Given the description of an element on the screen output the (x, y) to click on. 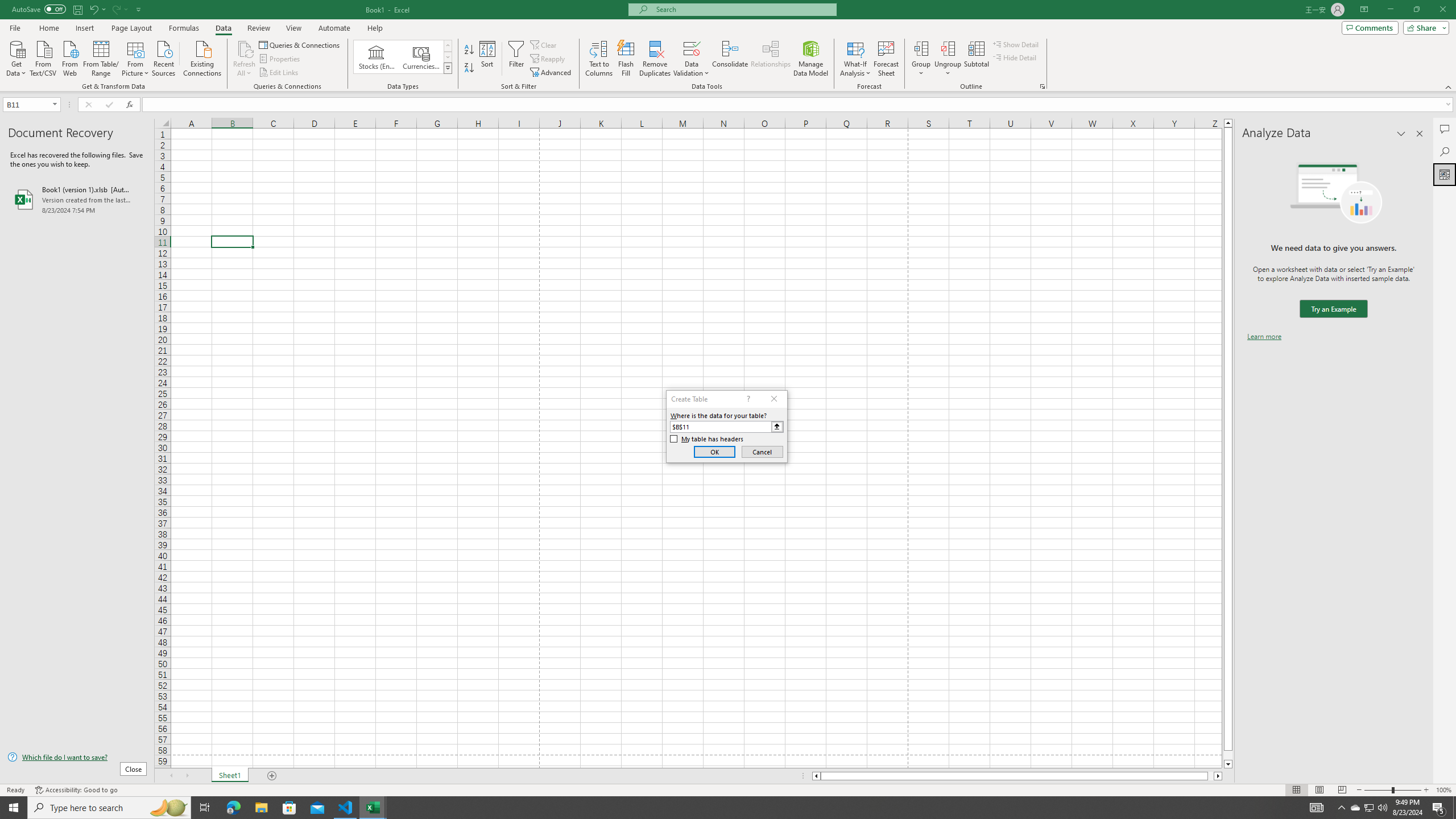
Row Down (448, 56)
Get Data (16, 57)
Class: NetUIImage (447, 68)
Formula Bar (799, 104)
From Web (69, 57)
